Given the description of an element on the screen output the (x, y) to click on. 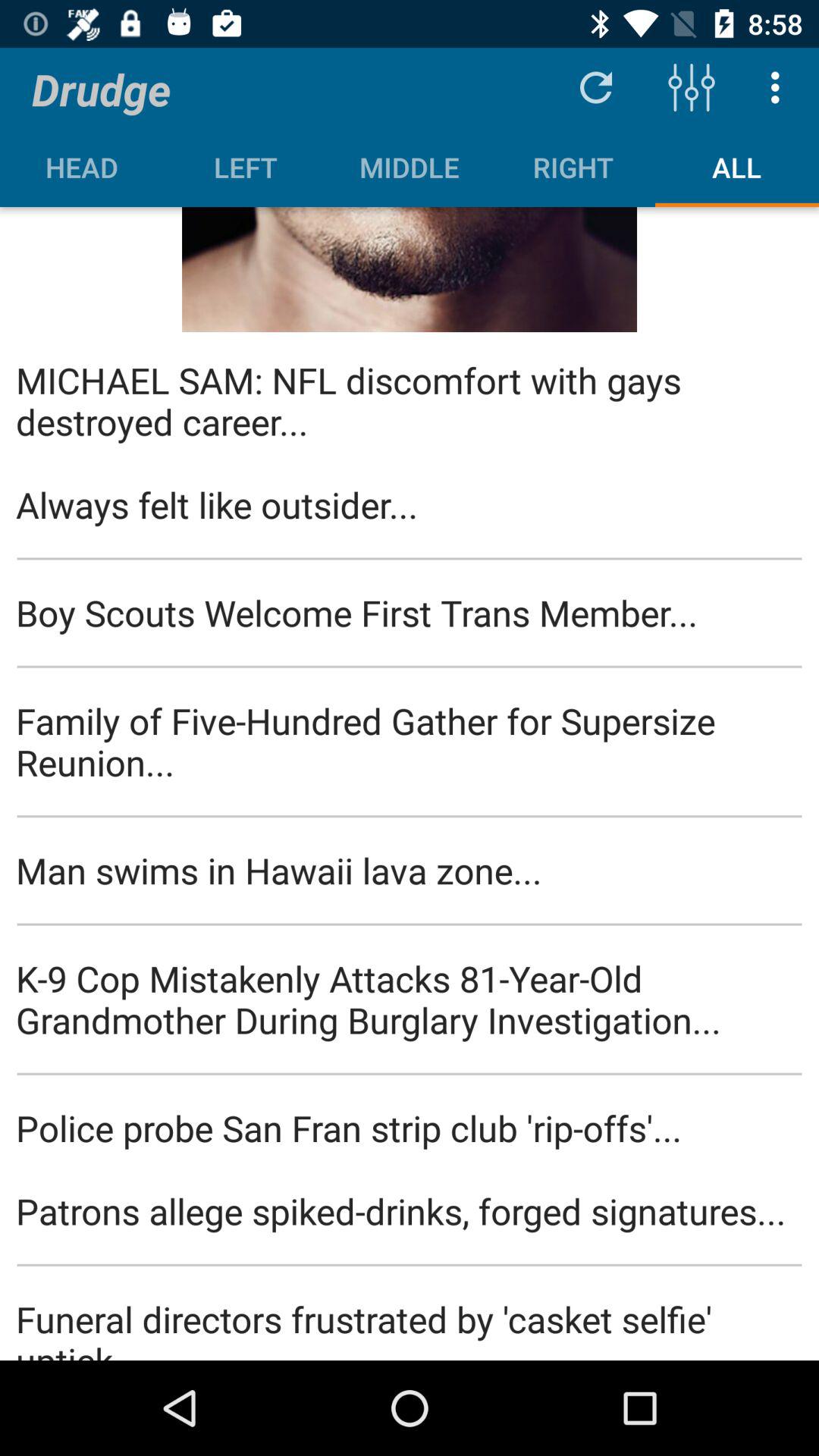
press icon above all item (691, 87)
